Given the description of an element on the screen output the (x, y) to click on. 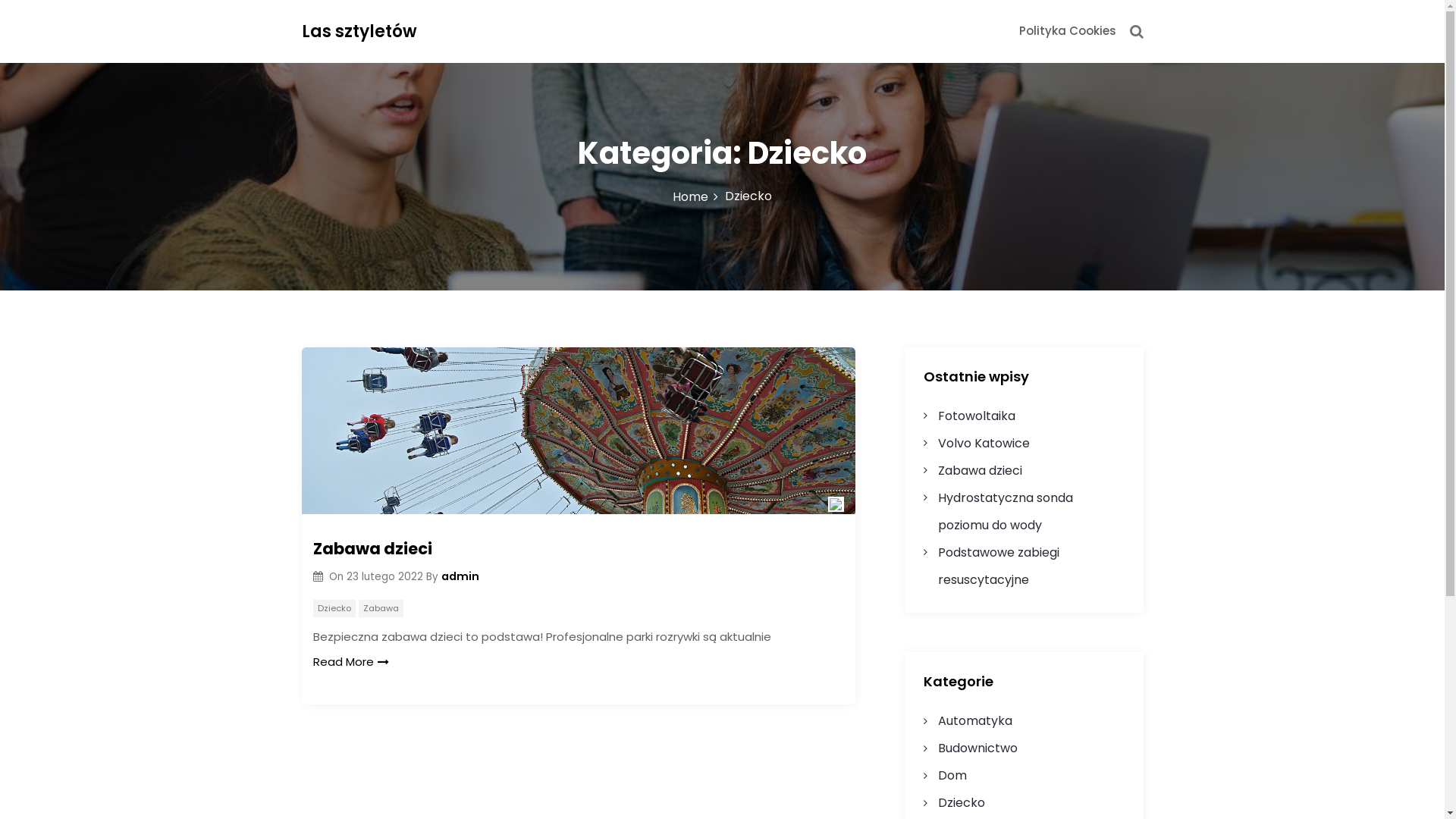
Podstawowe zabiegi resuscytacyjne Element type: text (998, 564)
23 lutego 2022 Element type: text (386, 575)
Budownictwo Element type: text (977, 747)
Volvo Katowice Element type: text (983, 442)
Zabawa dzieci Element type: text (980, 469)
Home Element type: text (695, 196)
Hydrostatyczna sonda poziomu do wody Element type: text (1005, 510)
Dziecko Element type: text (333, 608)
Automatyka Element type: text (975, 720)
Circular focus Element type: text (1443, 48)
Dziecko Element type: text (961, 802)
admin Element type: text (460, 575)
Zabawa Element type: text (380, 608)
Zabawa dzieci Element type: text (577, 548)
Fotowoltaika Element type: text (976, 414)
Polityka Cookies Element type: text (1067, 30)
Read More Element type: text (350, 662)
Dom Element type: text (952, 775)
